Given the description of an element on the screen output the (x, y) to click on. 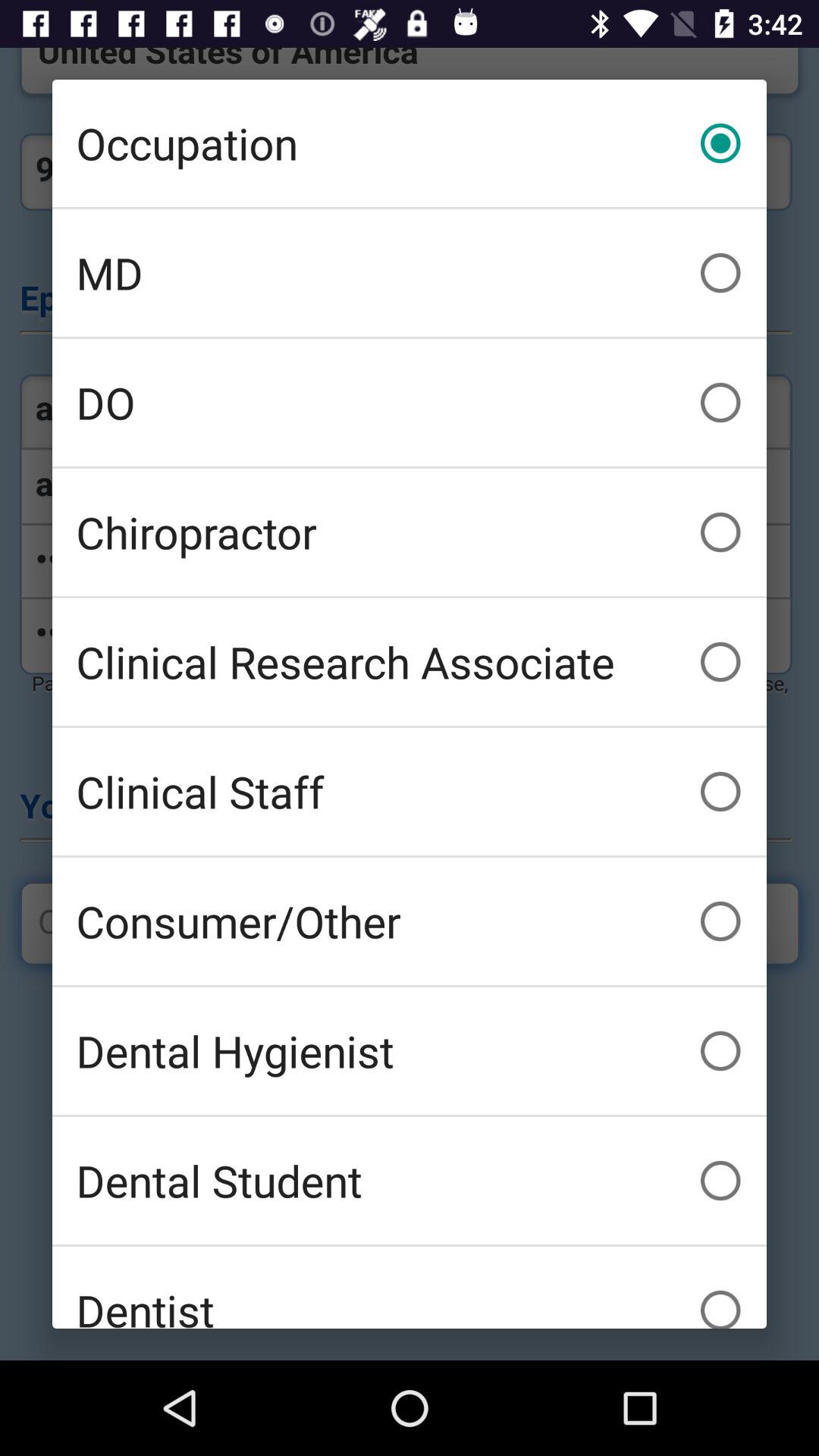
flip until the clinical research associate icon (409, 661)
